Given the description of an element on the screen output the (x, y) to click on. 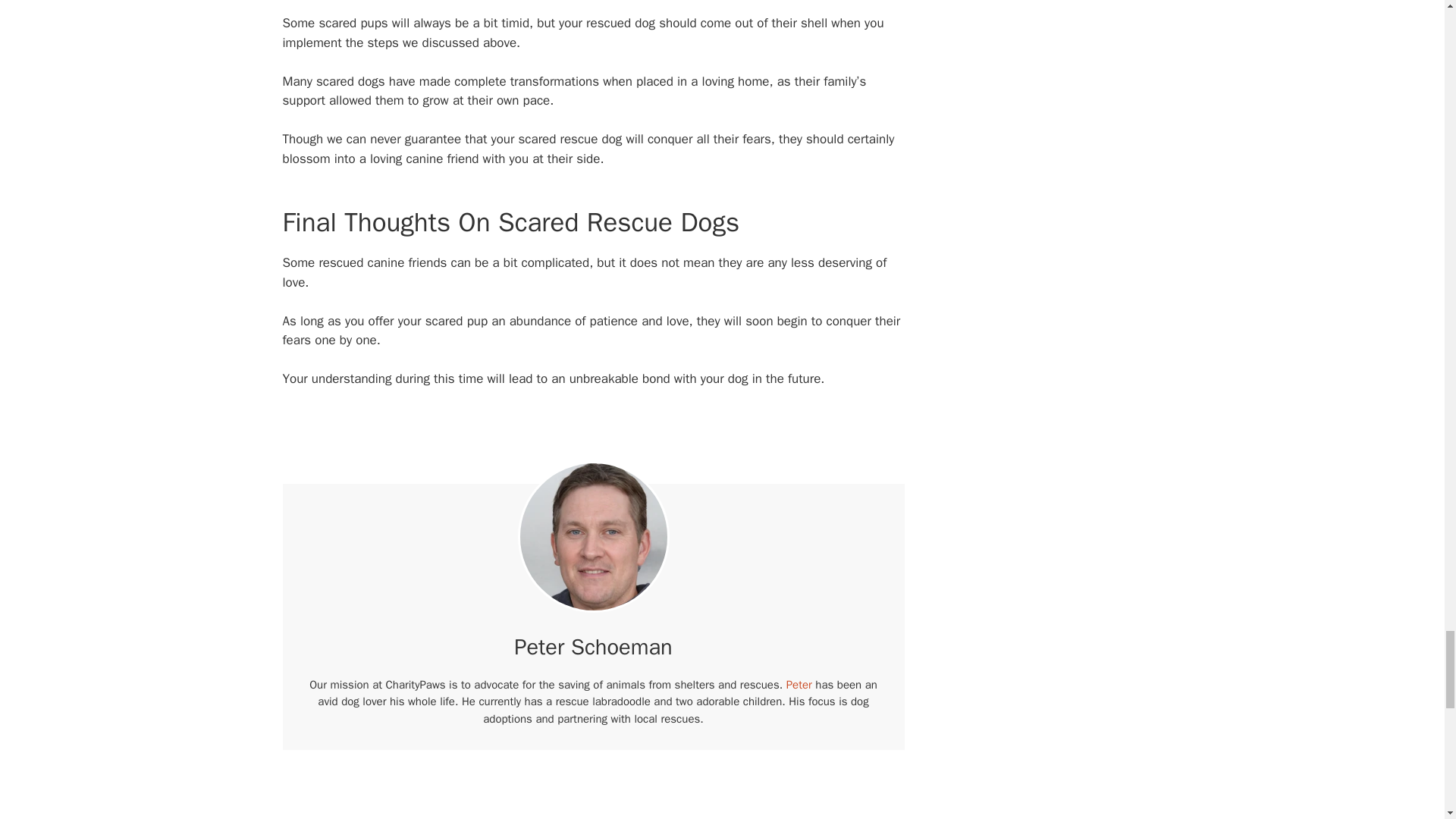
Peter (799, 684)
